Given the description of an element on the screen output the (x, y) to click on. 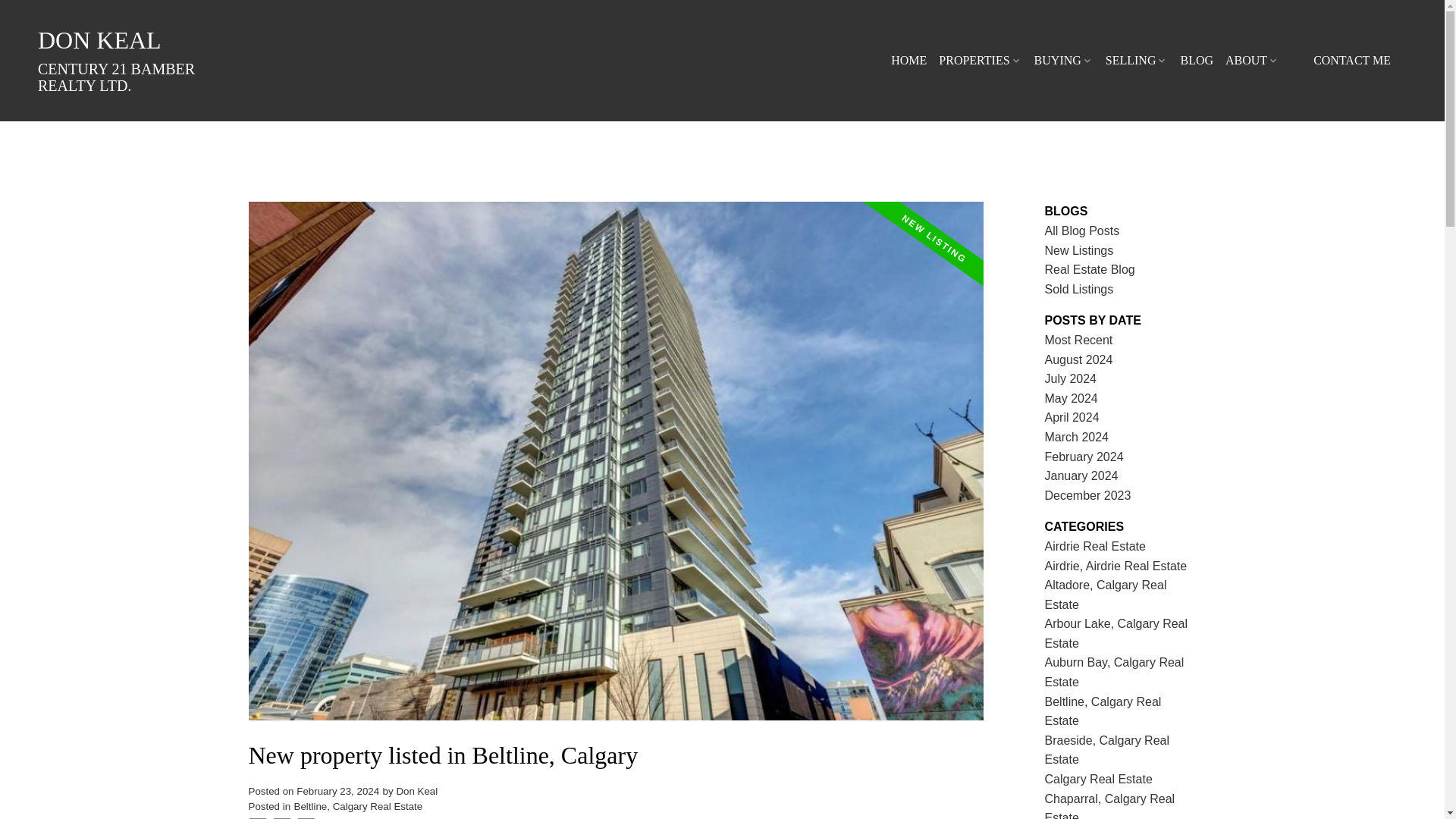
Sold Listings (1079, 288)
December 2023 (1088, 495)
Most Recent (1079, 339)
August 2024 (1079, 359)
All Blog Posts (1082, 230)
PROPERTIES (980, 60)
HOME (908, 60)
BUYING (1063, 60)
New Listings (1079, 250)
